Given the description of an element on the screen output the (x, y) to click on. 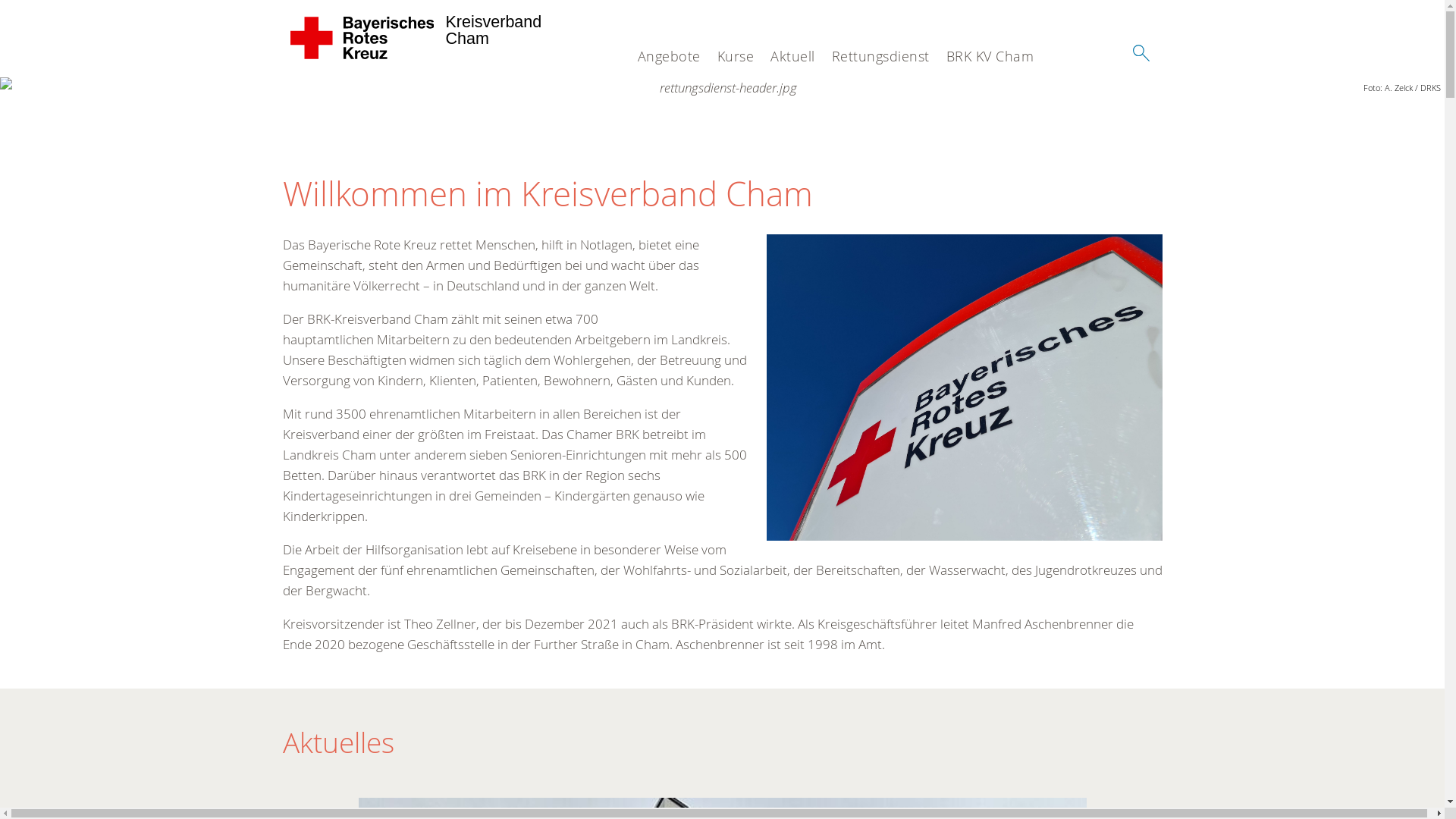
Der Rettungsdienst des DRK.  Element type: hover (722, 87)
Kreisverband 
Cham 
  Element type: text (362, 37)
